Given the description of an element on the screen output the (x, y) to click on. 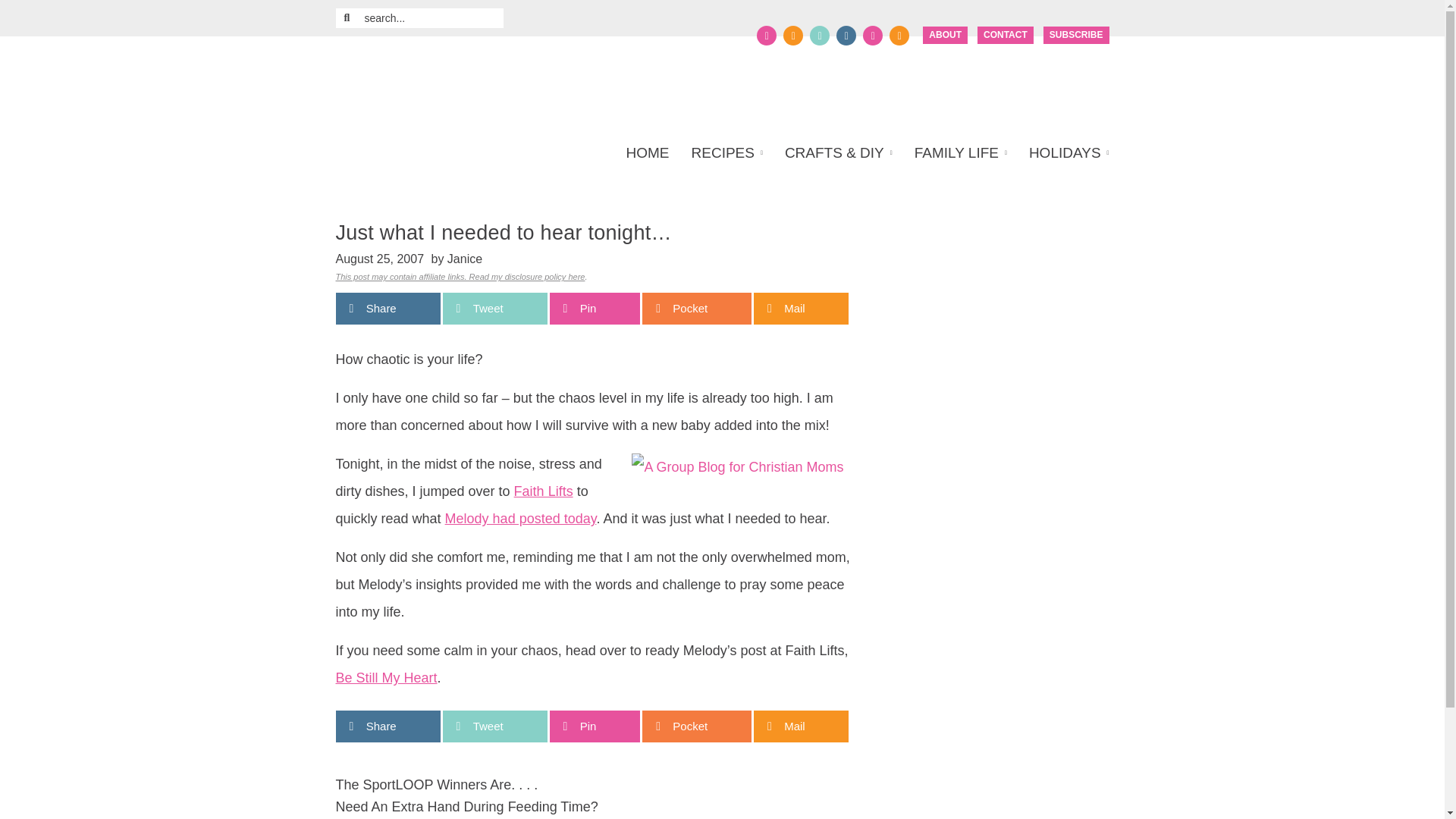
RECIPES (726, 153)
CONTACT (1004, 35)
Follow 5 Minutes For Mom on Instagram (845, 35)
Follow 5 Minutes For Mom on Pinterest (819, 35)
Follow 5 Minutes For Mom on YouTube (872, 35)
ABOUT (945, 35)
HOME (652, 153)
Follow 5 Minutes For Mom on Twitter (793, 35)
5 Minutes for Mom (480, 82)
